Given the description of an element on the screen output the (x, y) to click on. 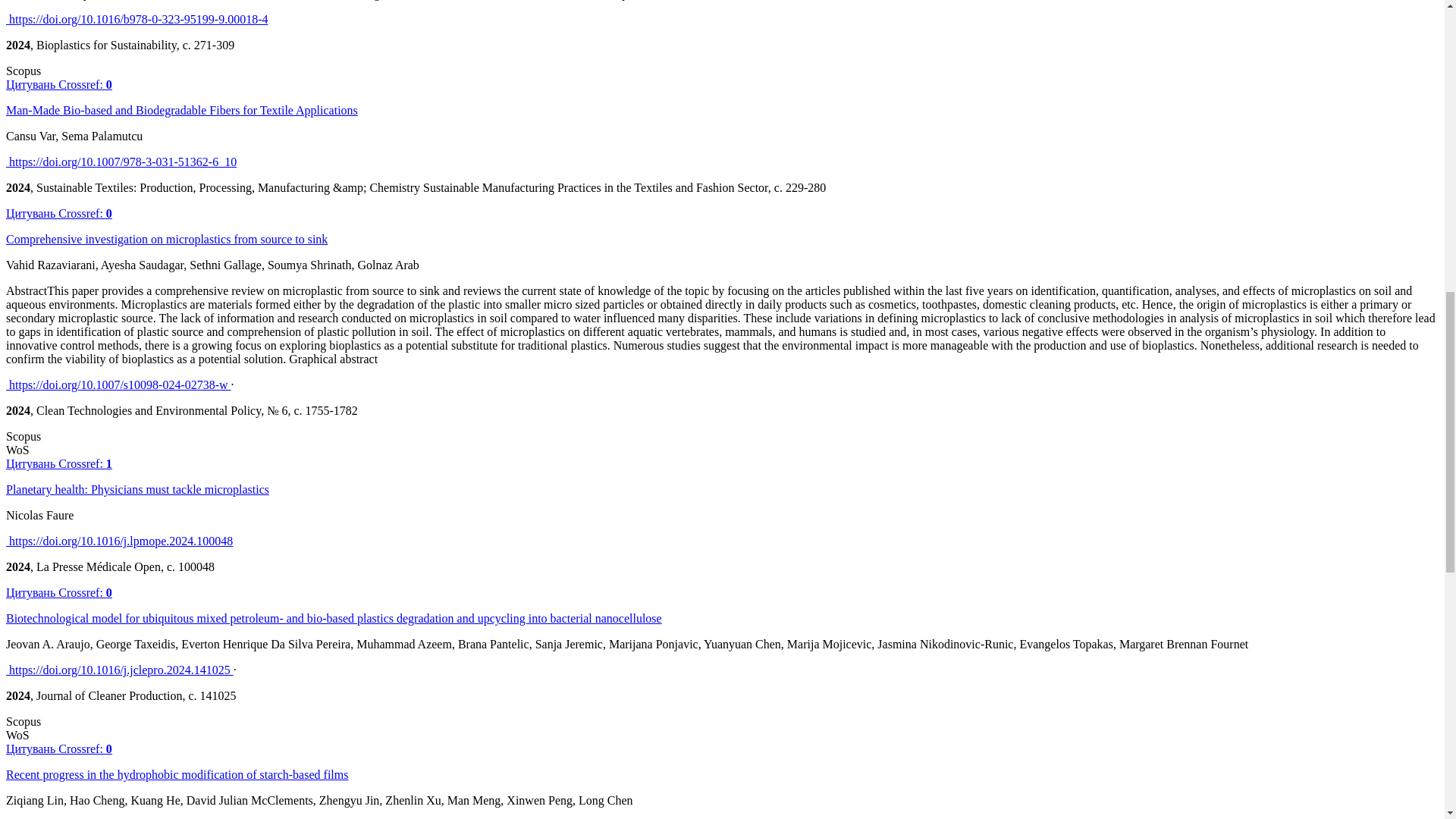
Planetary health: Physicians must tackle microplastics (137, 489)
